Given the description of an element on the screen output the (x, y) to click on. 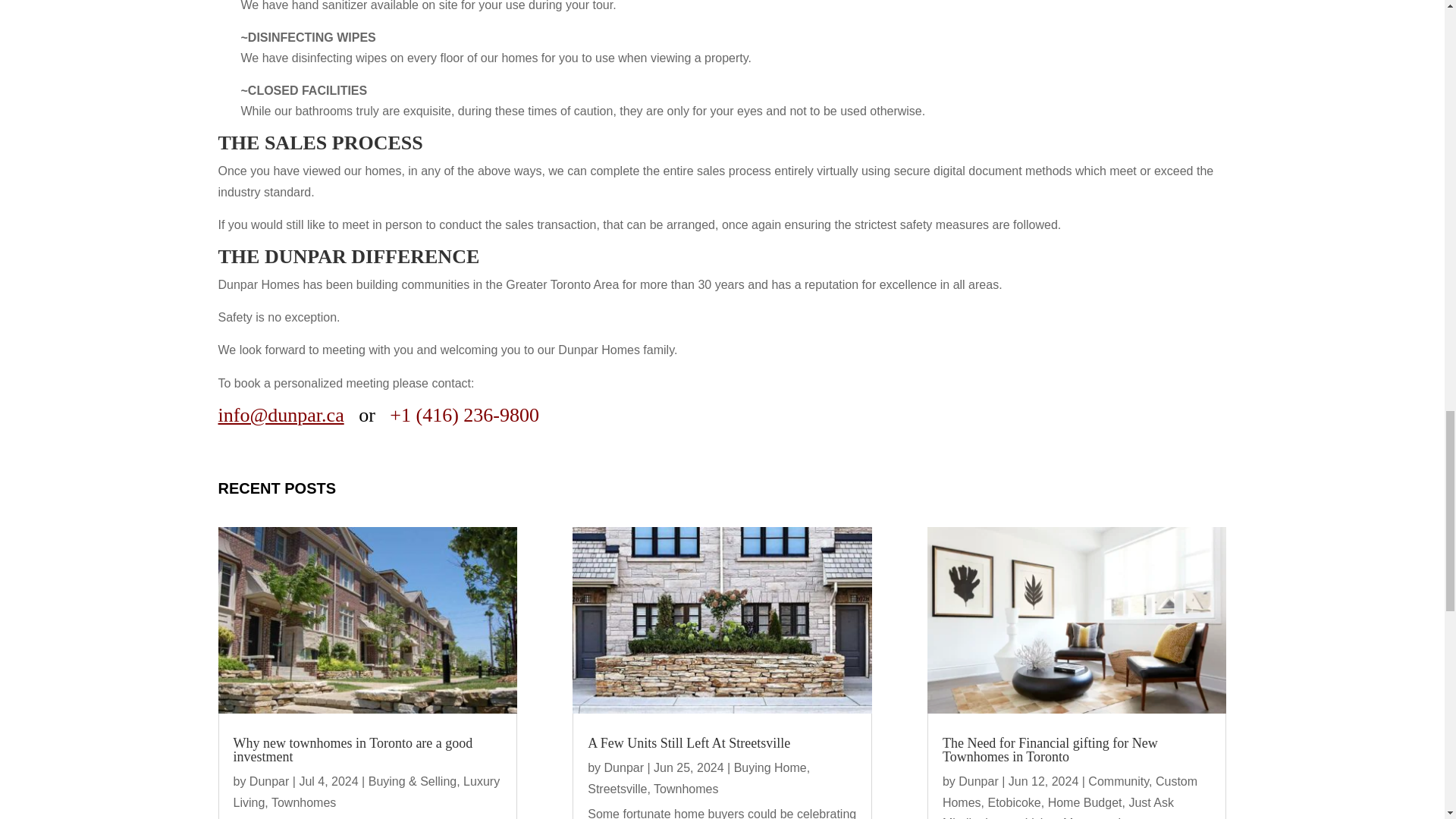
Posts by Dunpar (268, 780)
Posts by Dunpar (623, 767)
Posts by Dunpar (977, 780)
